Given the description of an element on the screen output the (x, y) to click on. 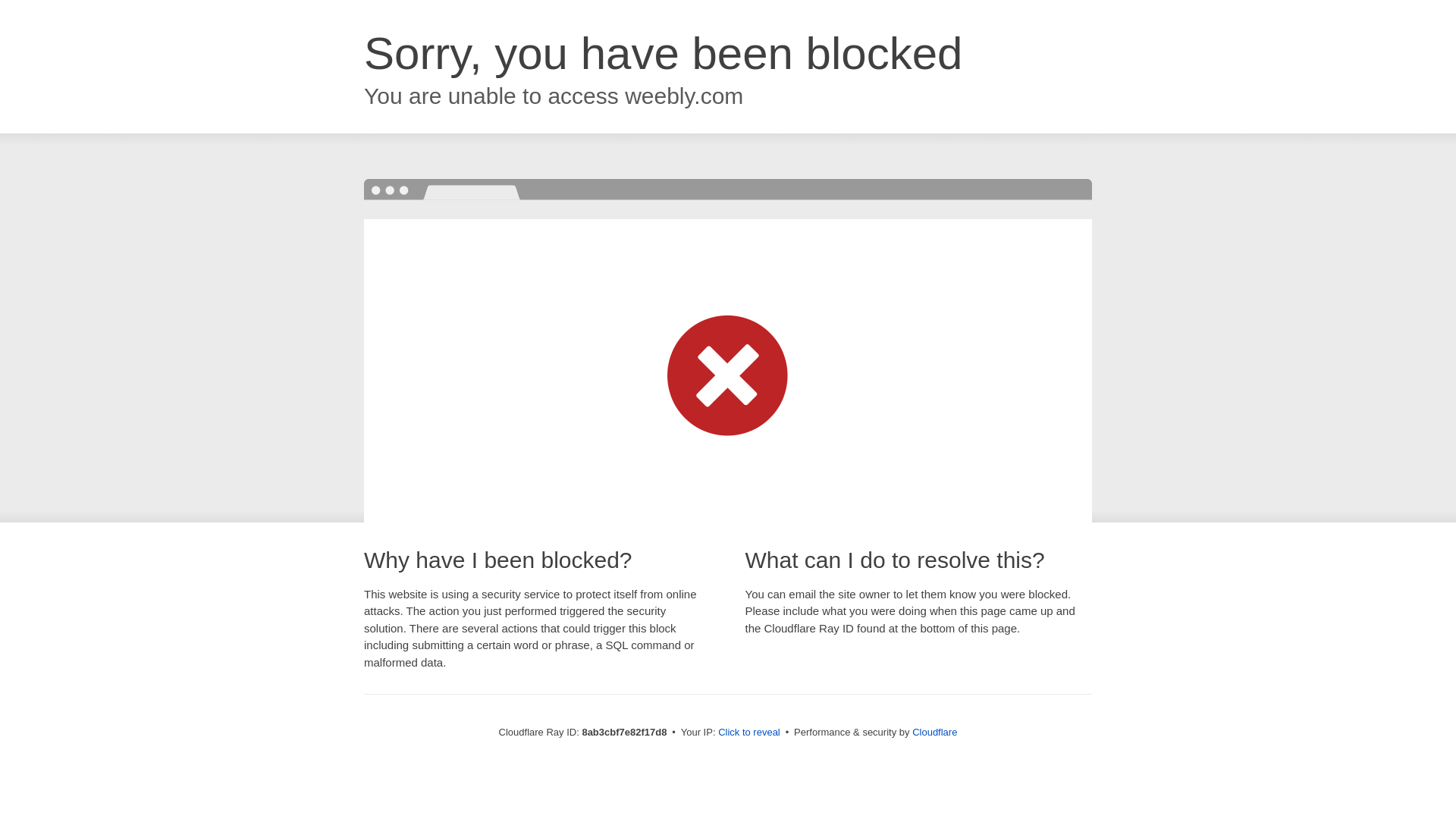
Cloudflare (934, 731)
Click to reveal (748, 732)
